Given the description of an element on the screen output the (x, y) to click on. 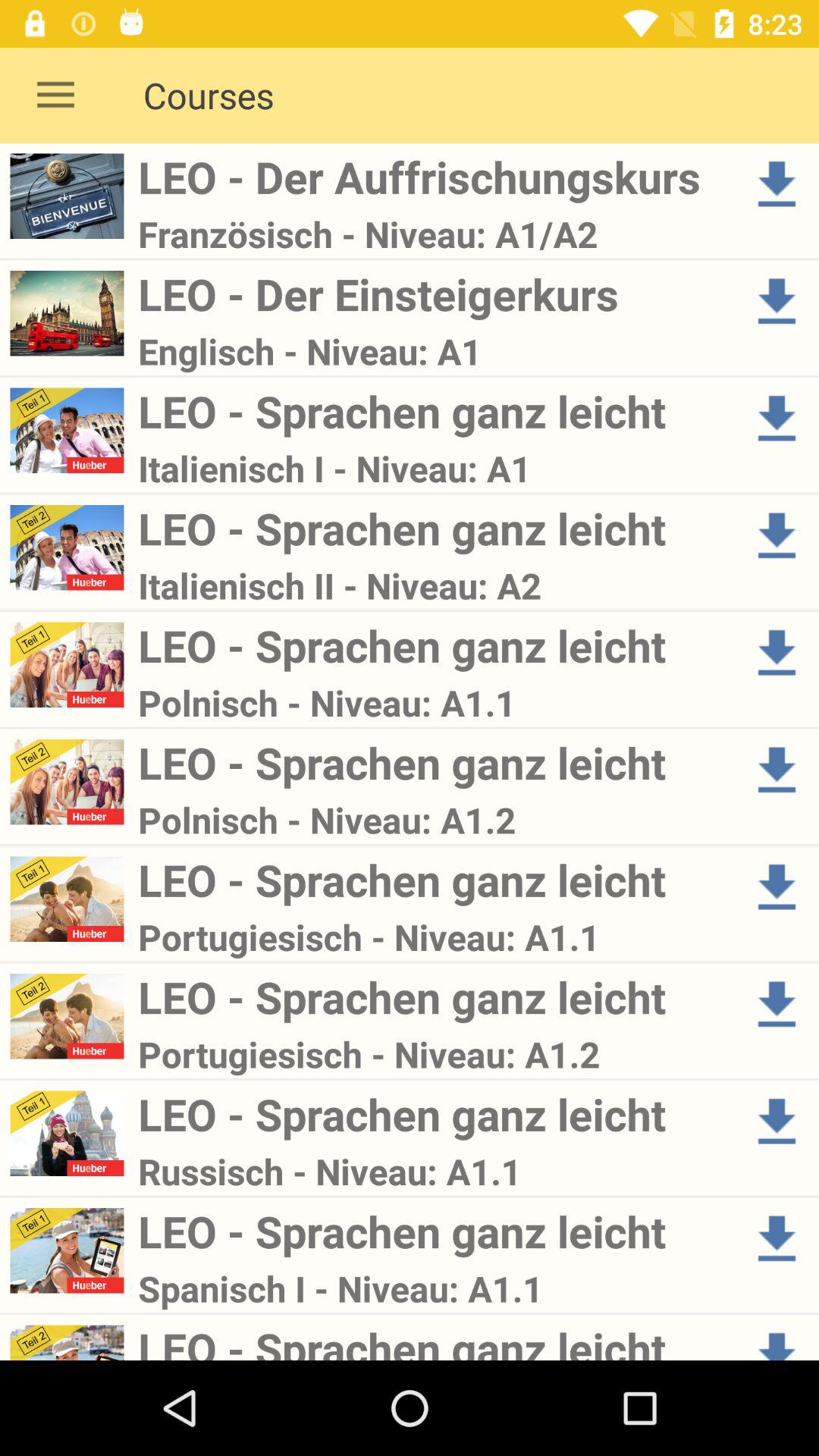
tap the icon to the left of leo - der auffrischungskurs icon (55, 95)
